Given the description of an element on the screen output the (x, y) to click on. 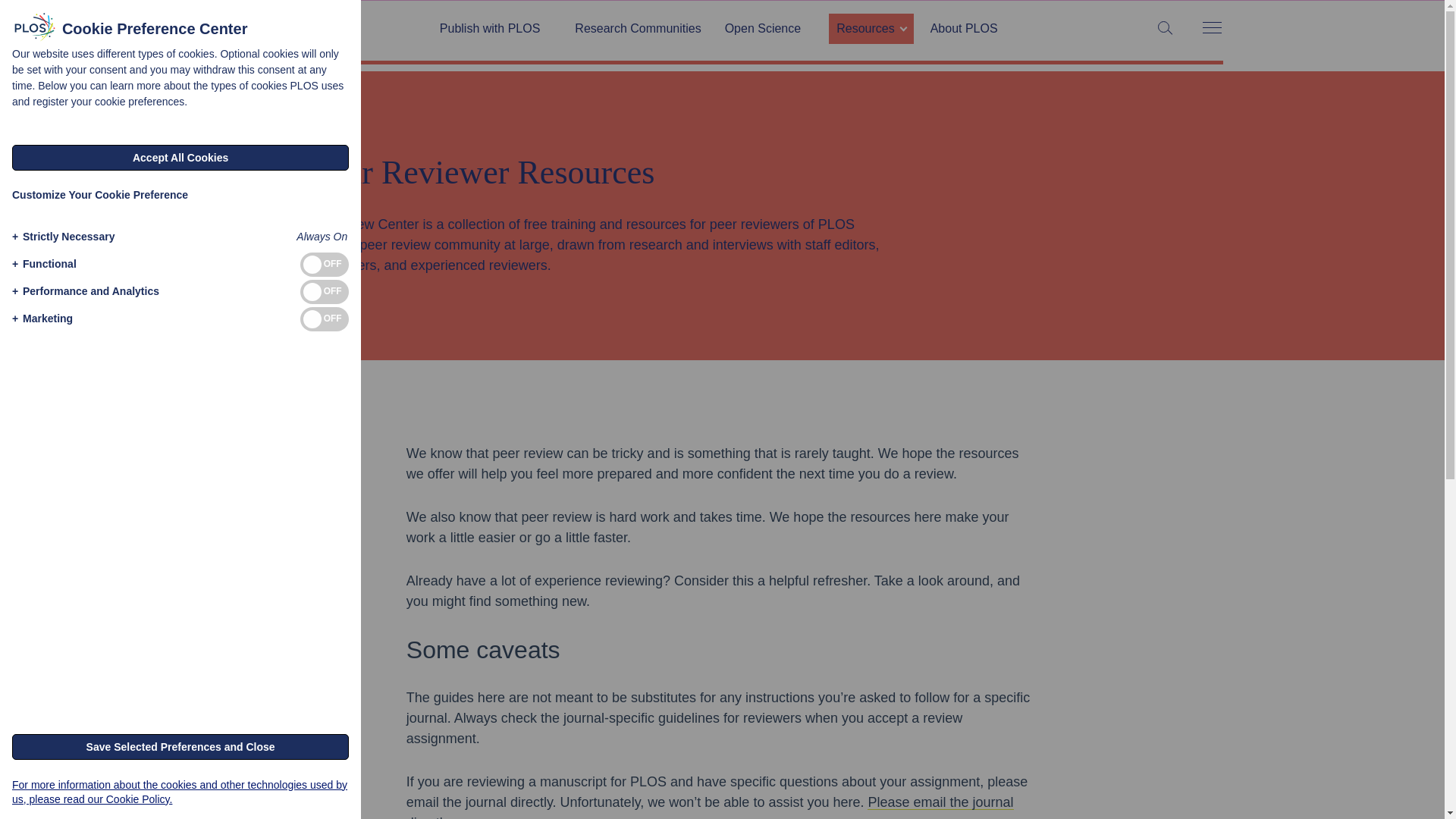
Search (15, 15)
Menu (1211, 28)
Research Communities (637, 28)
About PLOS (964, 28)
Open Science (769, 28)
Publish with PLOS (495, 28)
Resources (871, 29)
